Given the description of an element on the screen output the (x, y) to click on. 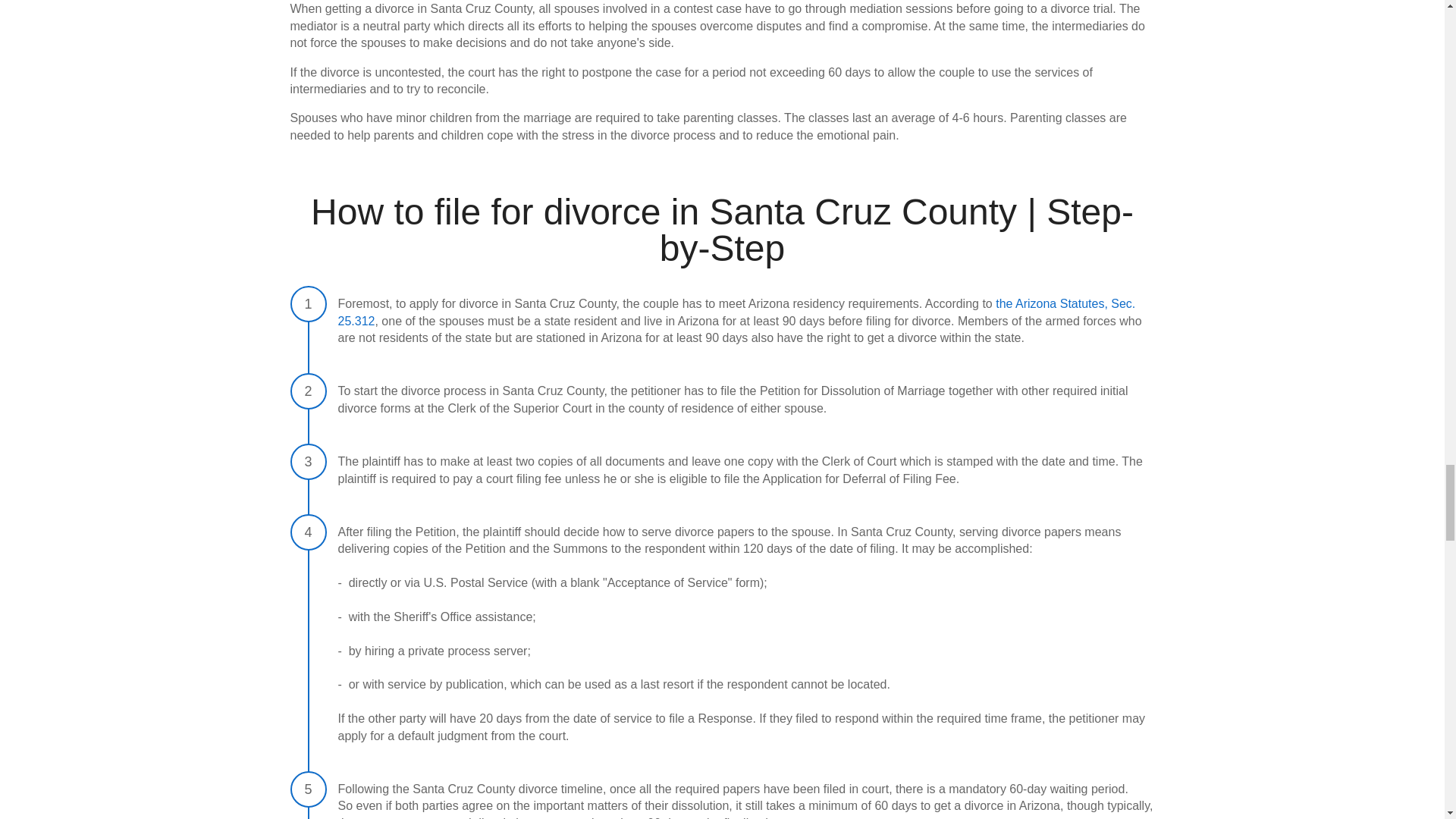
the Arizona Statutes, Sec. 25.312 (736, 311)
